Given the description of an element on the screen output the (x, y) to click on. 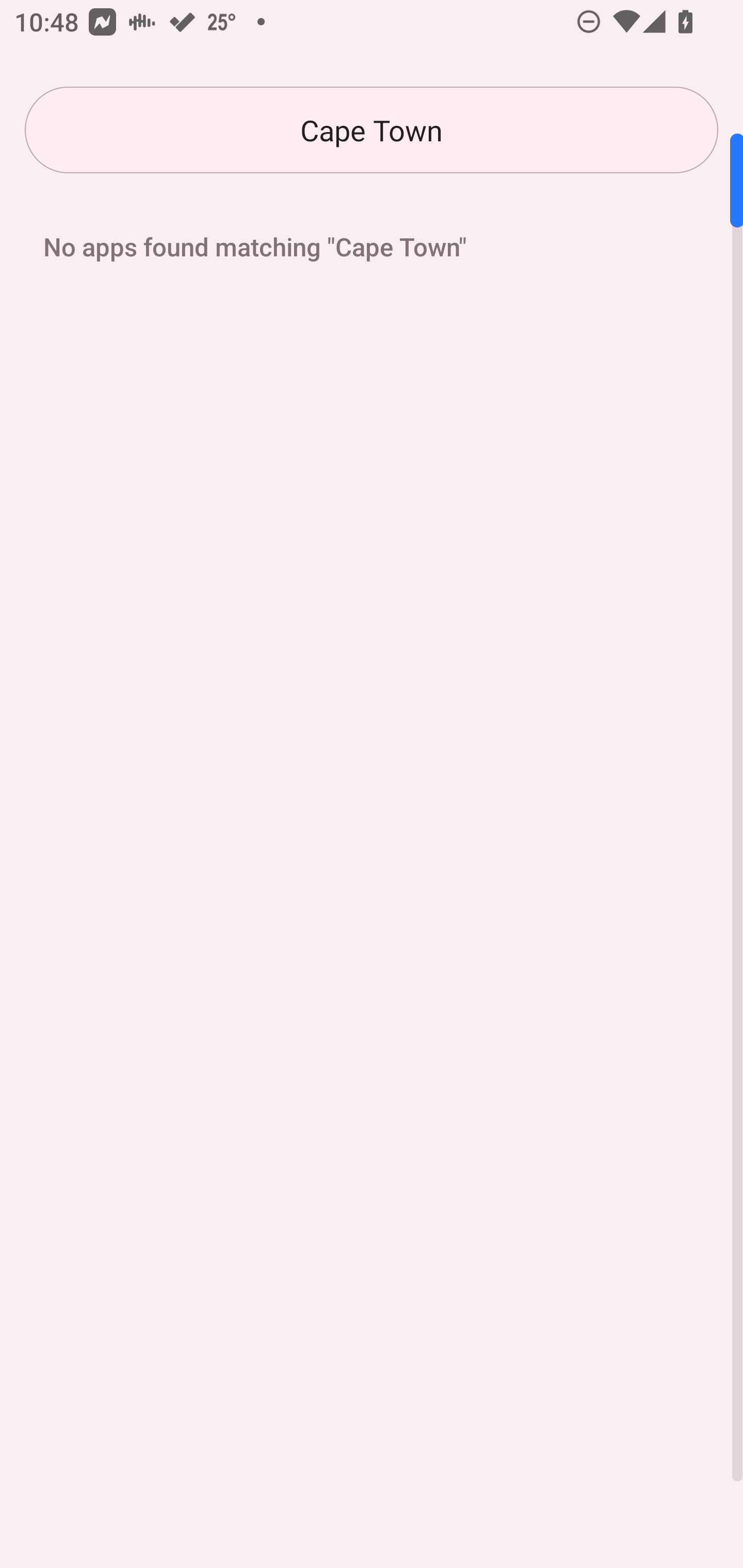
Cape Town (371, 130)
